Given the description of an element on the screen output the (x, y) to click on. 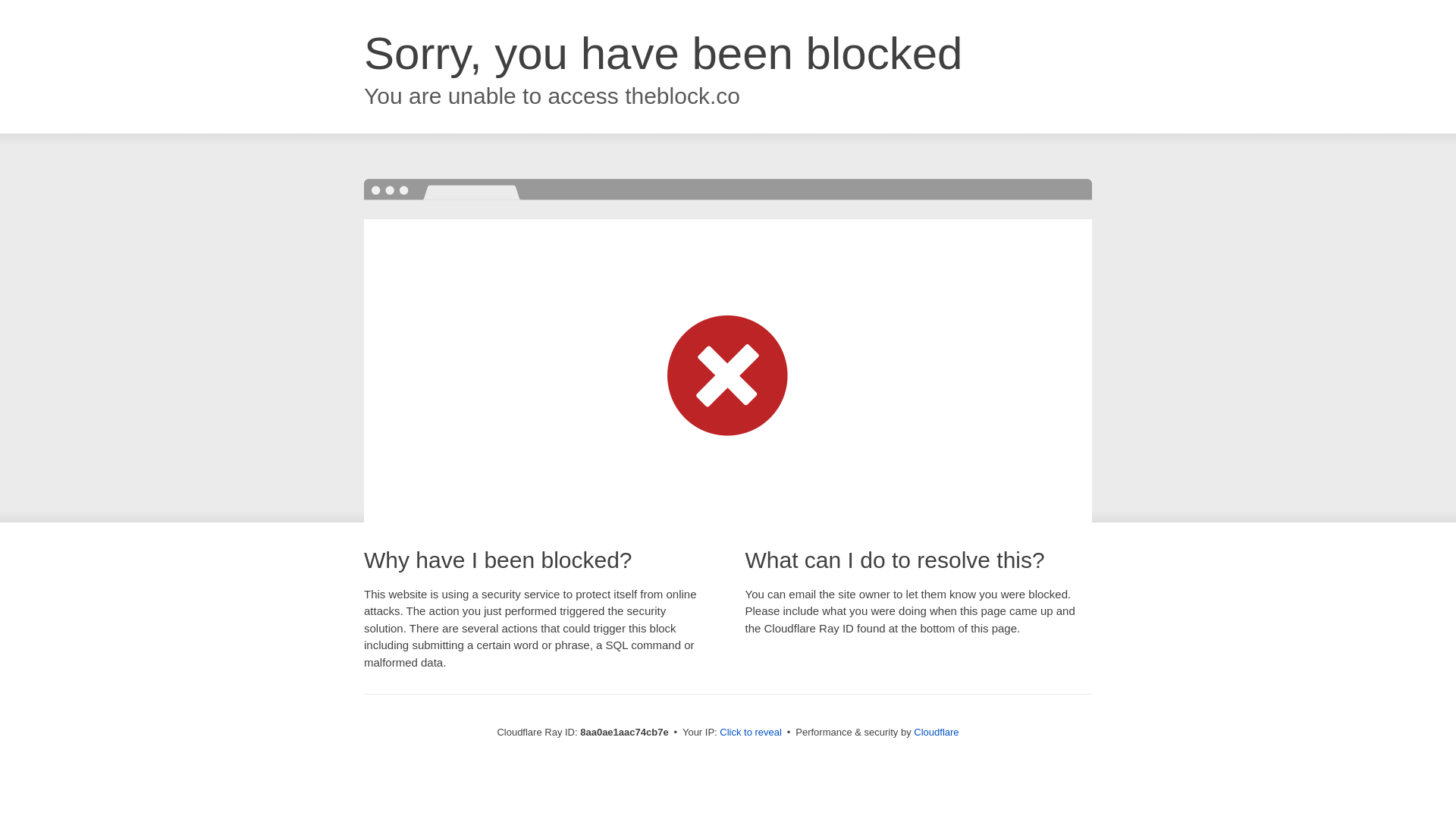
Cloudflare (936, 731)
Click to reveal (750, 732)
